Given the description of an element on the screen output the (x, y) to click on. 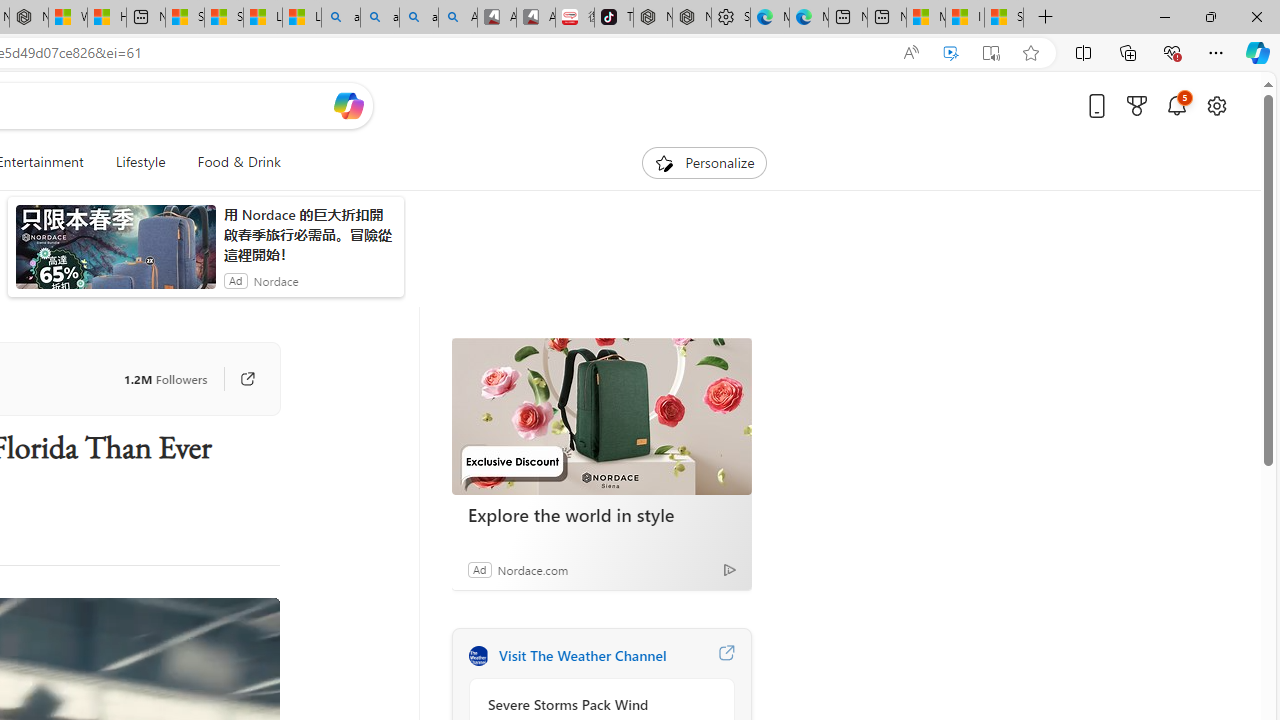
Ad (479, 569)
Visit The Weather Channel website (726, 655)
Nordace - Summer Adventures 2024 (29, 17)
amazon - Search Images (418, 17)
The Weather Channel (478, 655)
Settings (730, 17)
amazon - Search (380, 17)
Go to publisher's site (247, 378)
Ad Choice (729, 569)
Open settings (1216, 105)
